Given the description of an element on the screen output the (x, y) to click on. 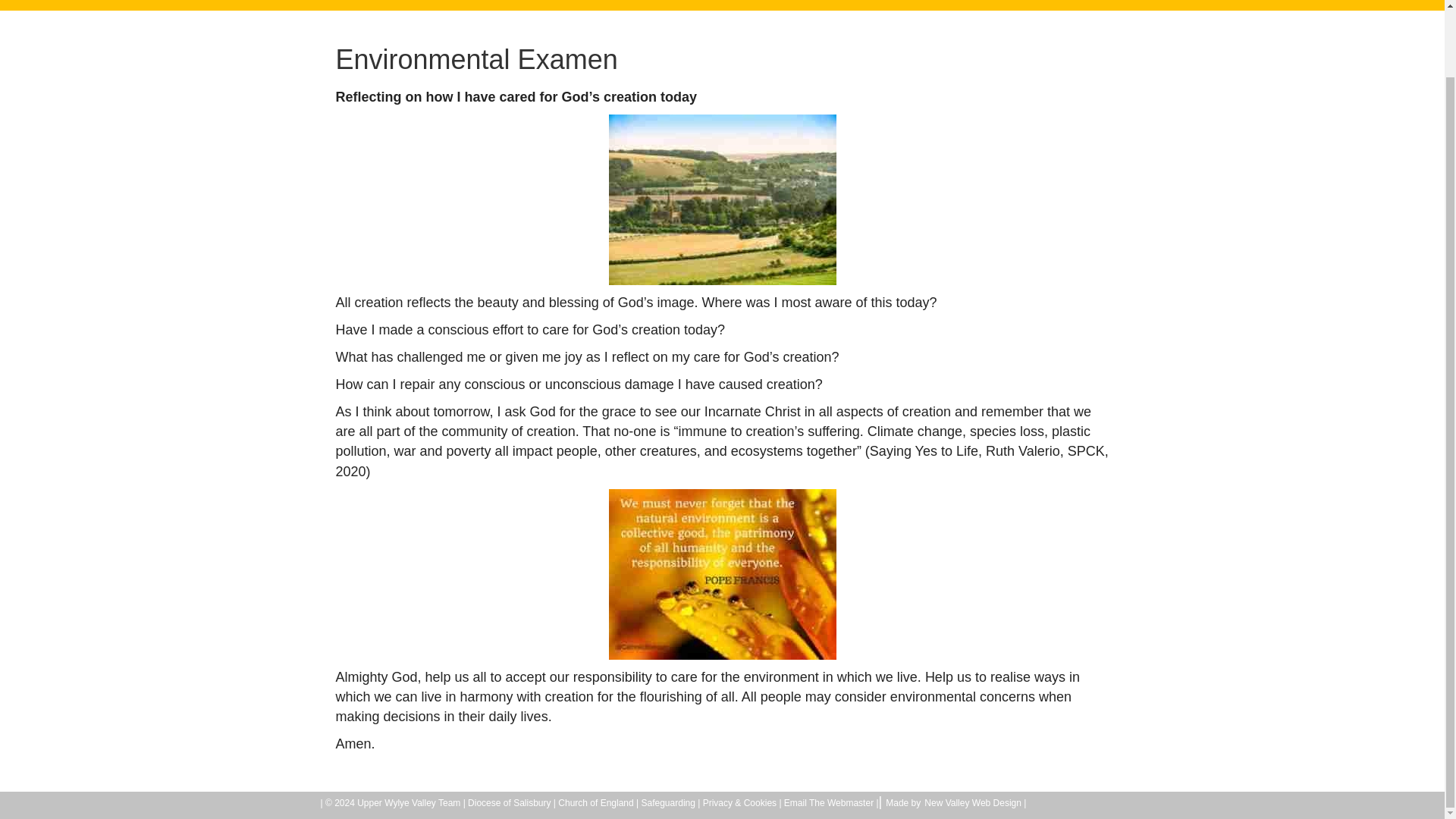
Worship (563, 1)
Our Churches (655, 1)
Home (499, 1)
